Given the description of an element on the screen output the (x, y) to click on. 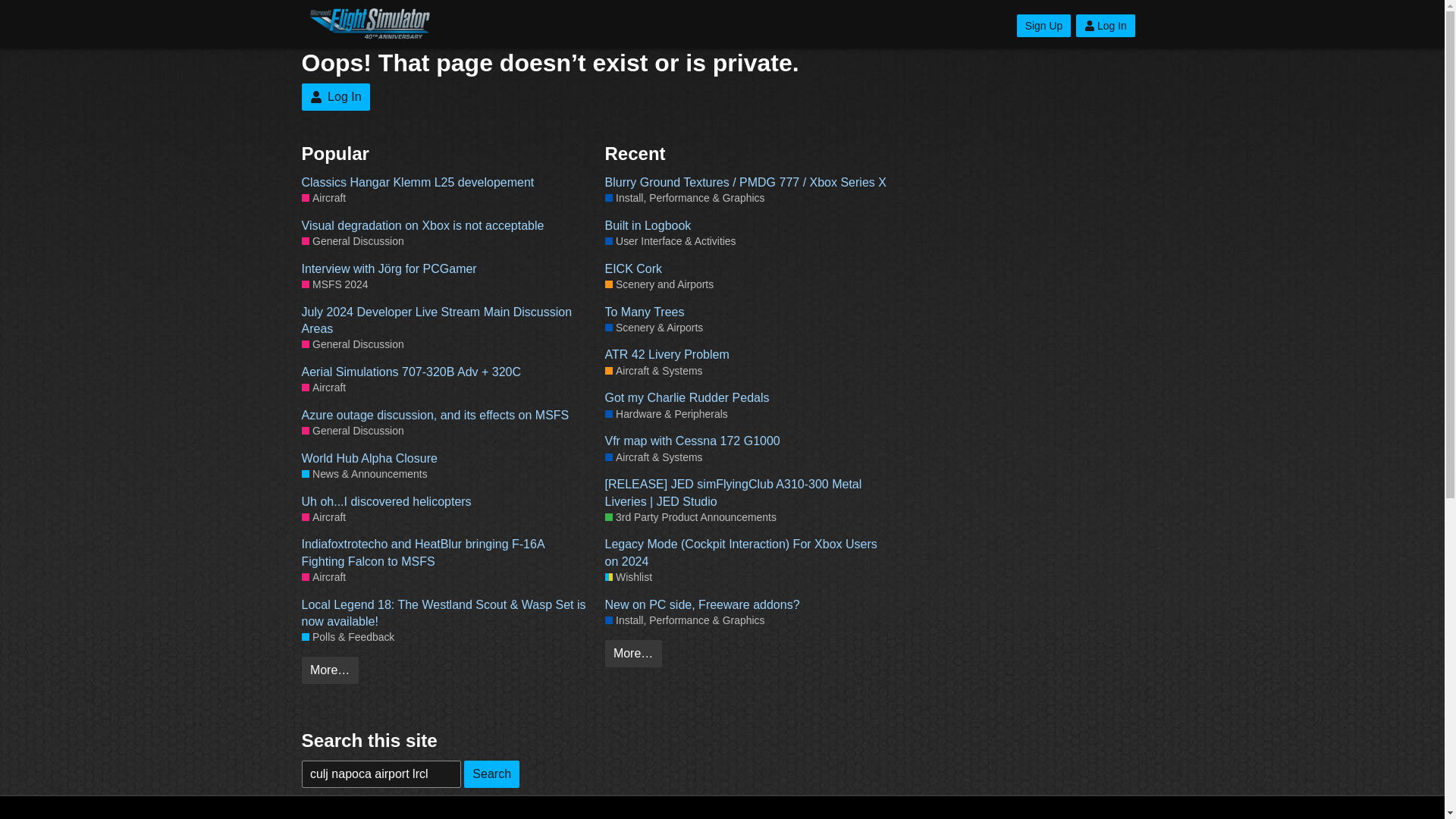
Log In (1105, 25)
Log In (335, 96)
Aircraft (323, 577)
General Discussion (352, 344)
To Many Trees (749, 312)
MSFS 2024 (334, 284)
Aircraft (323, 517)
